Given the description of an element on the screen output the (x, y) to click on. 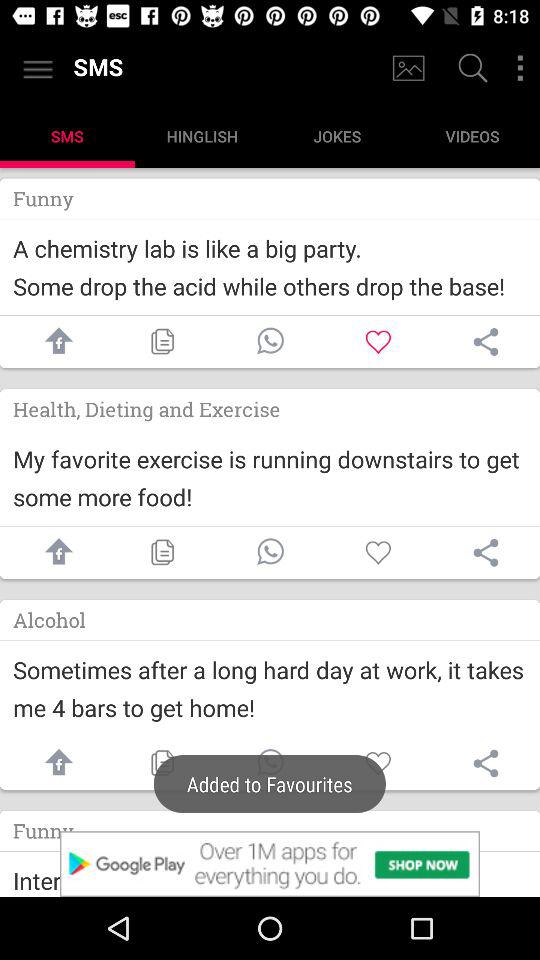
like button (378, 763)
